Given the description of an element on the screen output the (x, y) to click on. 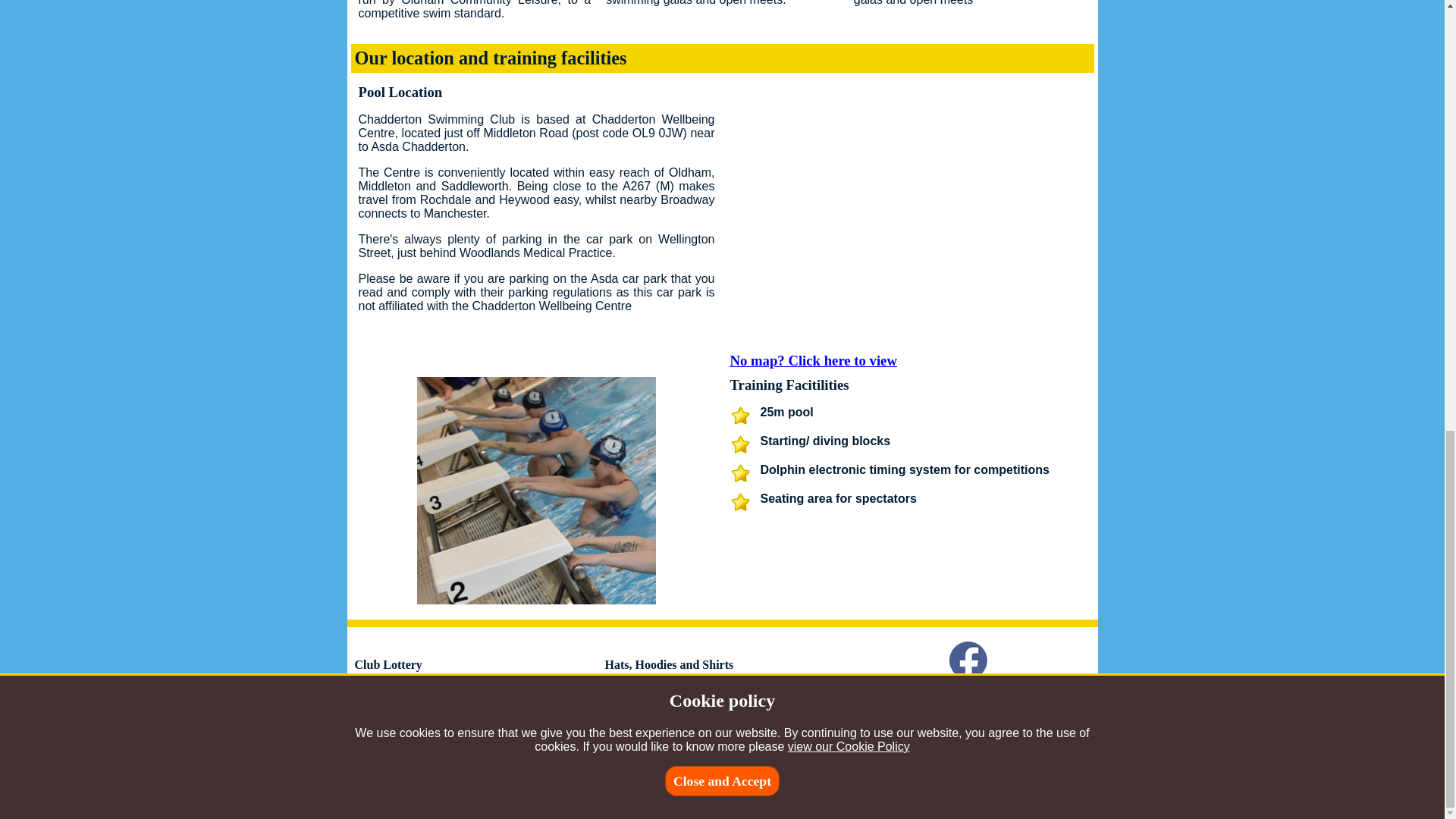
Click Here (547, 707)
About Us (500, 747)
Contact Us (564, 747)
Welfare (622, 747)
All Events (441, 747)
